Given the description of an element on the screen output the (x, y) to click on. 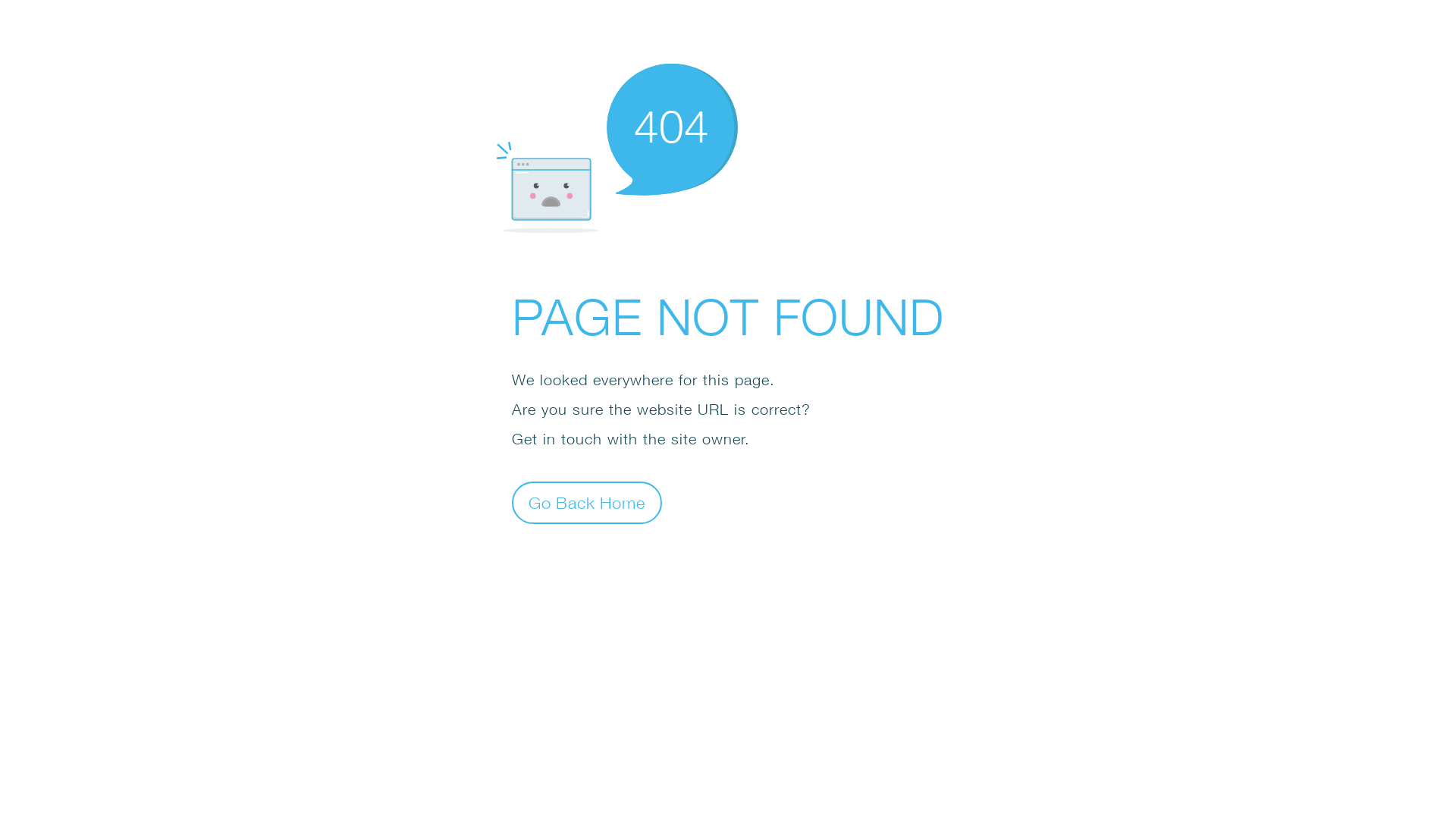
Go Back Home Element type: text (586, 502)
